Given the description of an element on the screen output the (x, y) to click on. 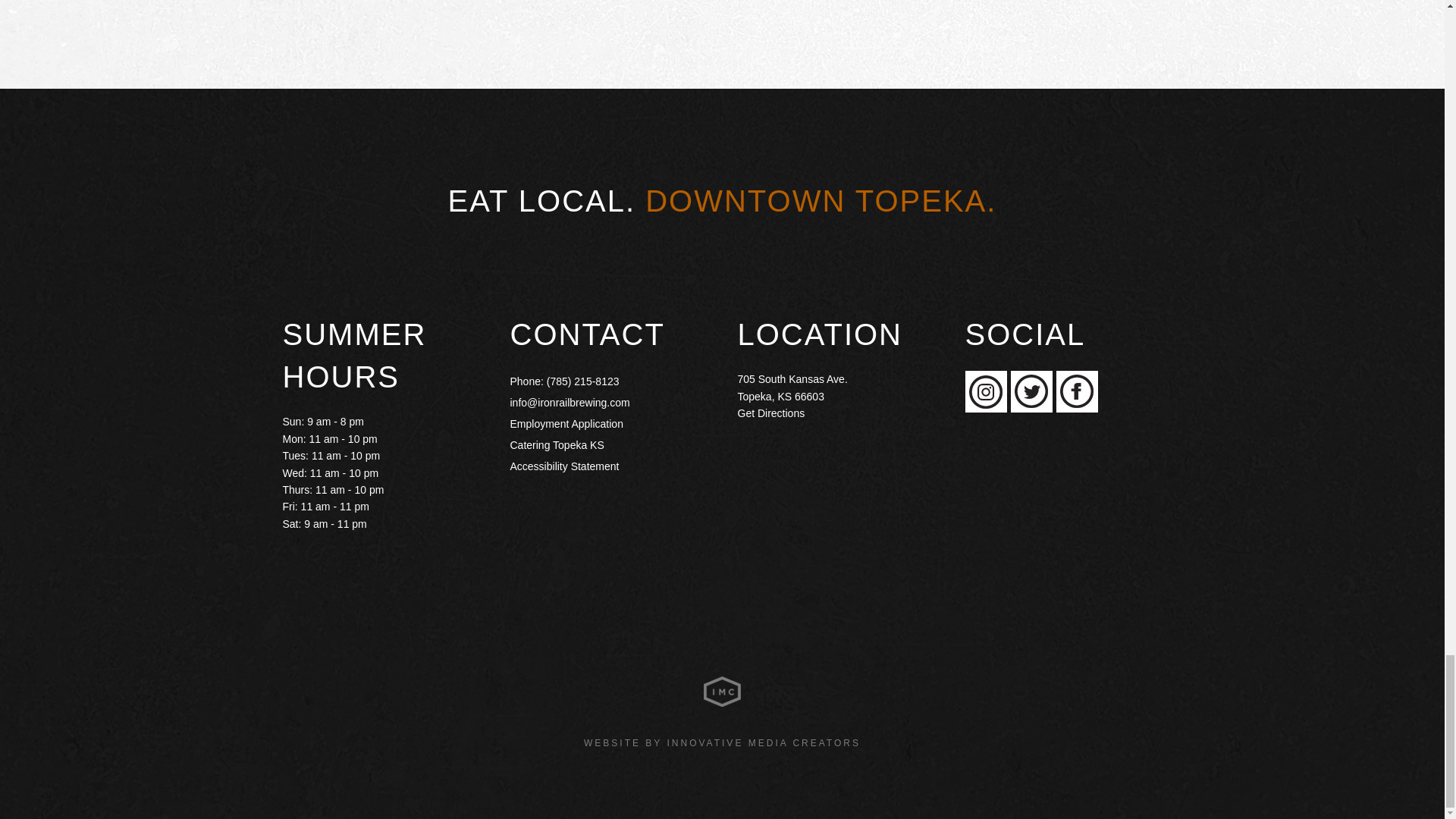
imc (722, 691)
